Given the description of an element on the screen output the (x, y) to click on. 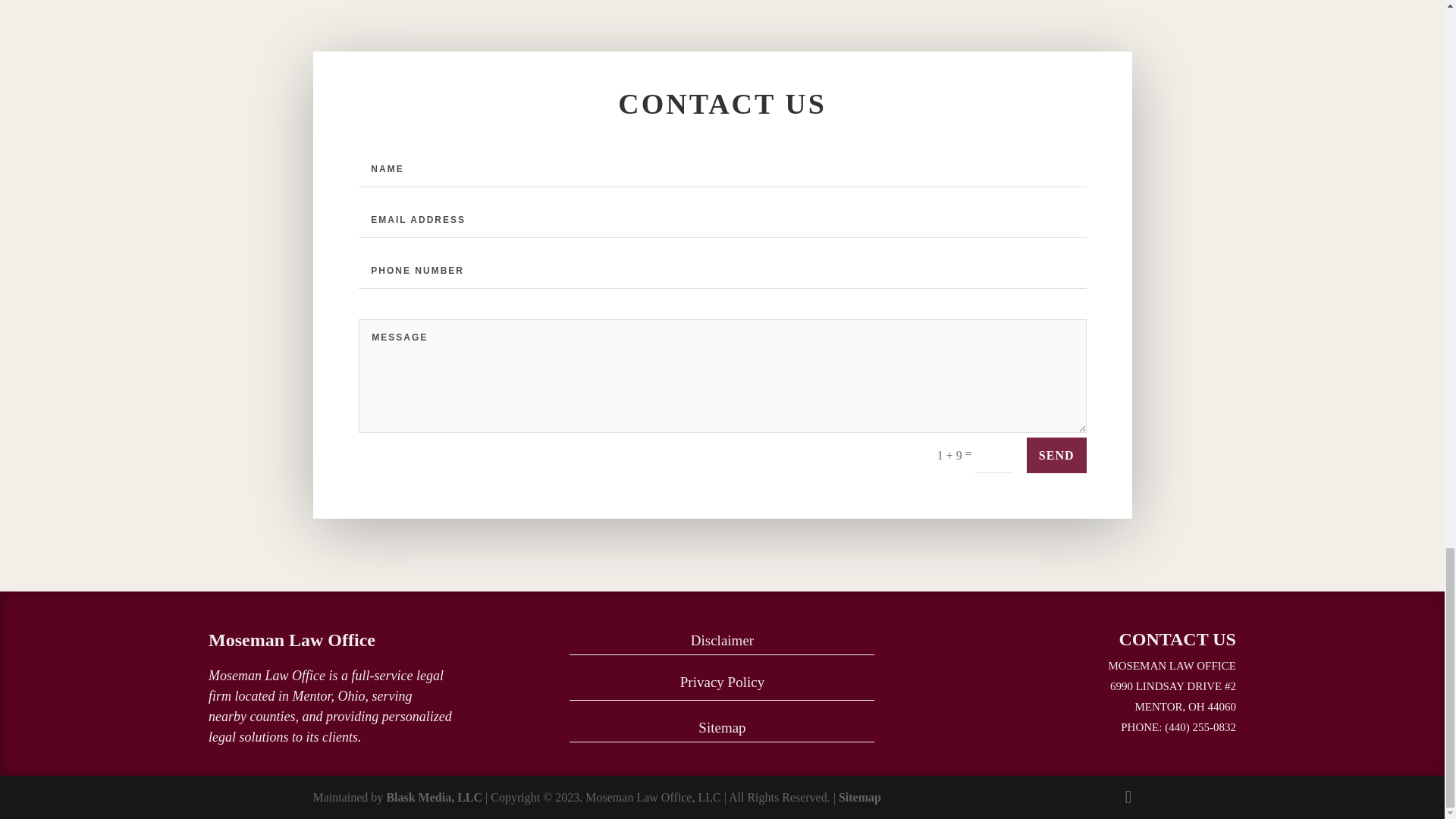
Sitemap (721, 727)
Sitemap (859, 797)
SEND (1056, 455)
Privacy Policy (721, 682)
Disclaimer (722, 640)
Blask Media, LLC (433, 797)
